Given the description of an element on the screen output the (x, y) to click on. 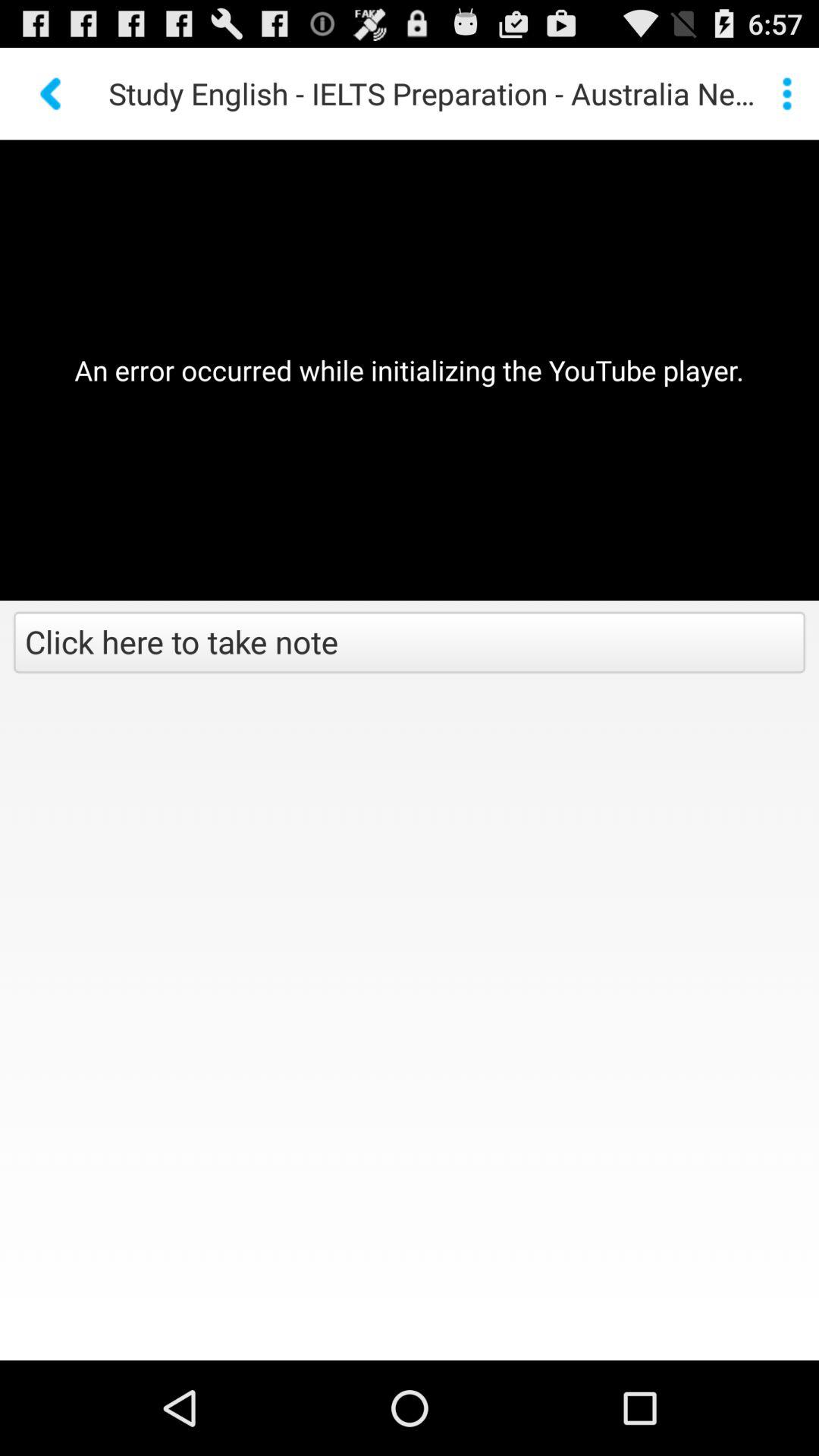
tap icon at the top left corner (52, 93)
